Given the description of an element on the screen output the (x, y) to click on. 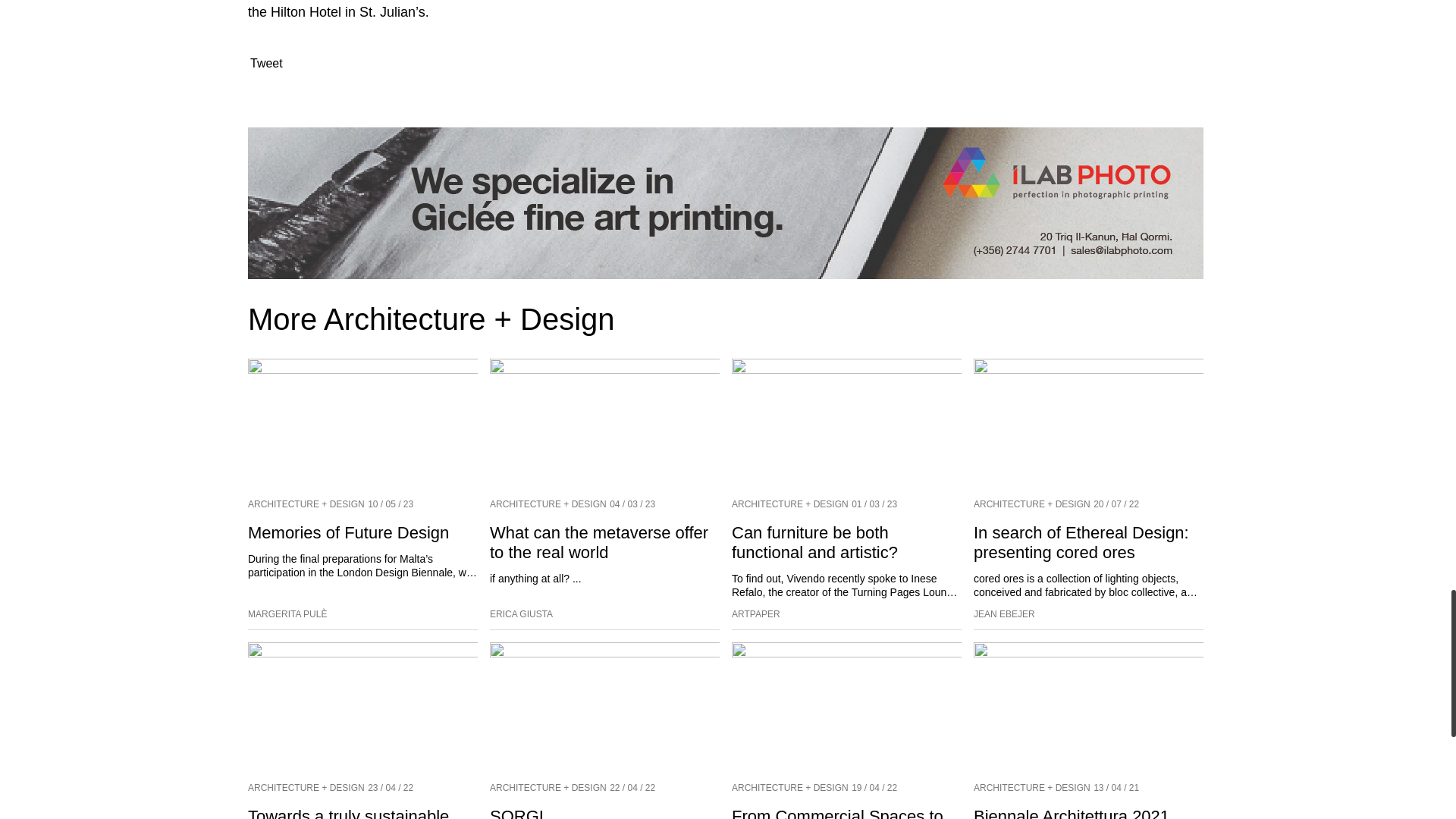
Tweet (266, 62)
